Given the description of an element on the screen output the (x, y) to click on. 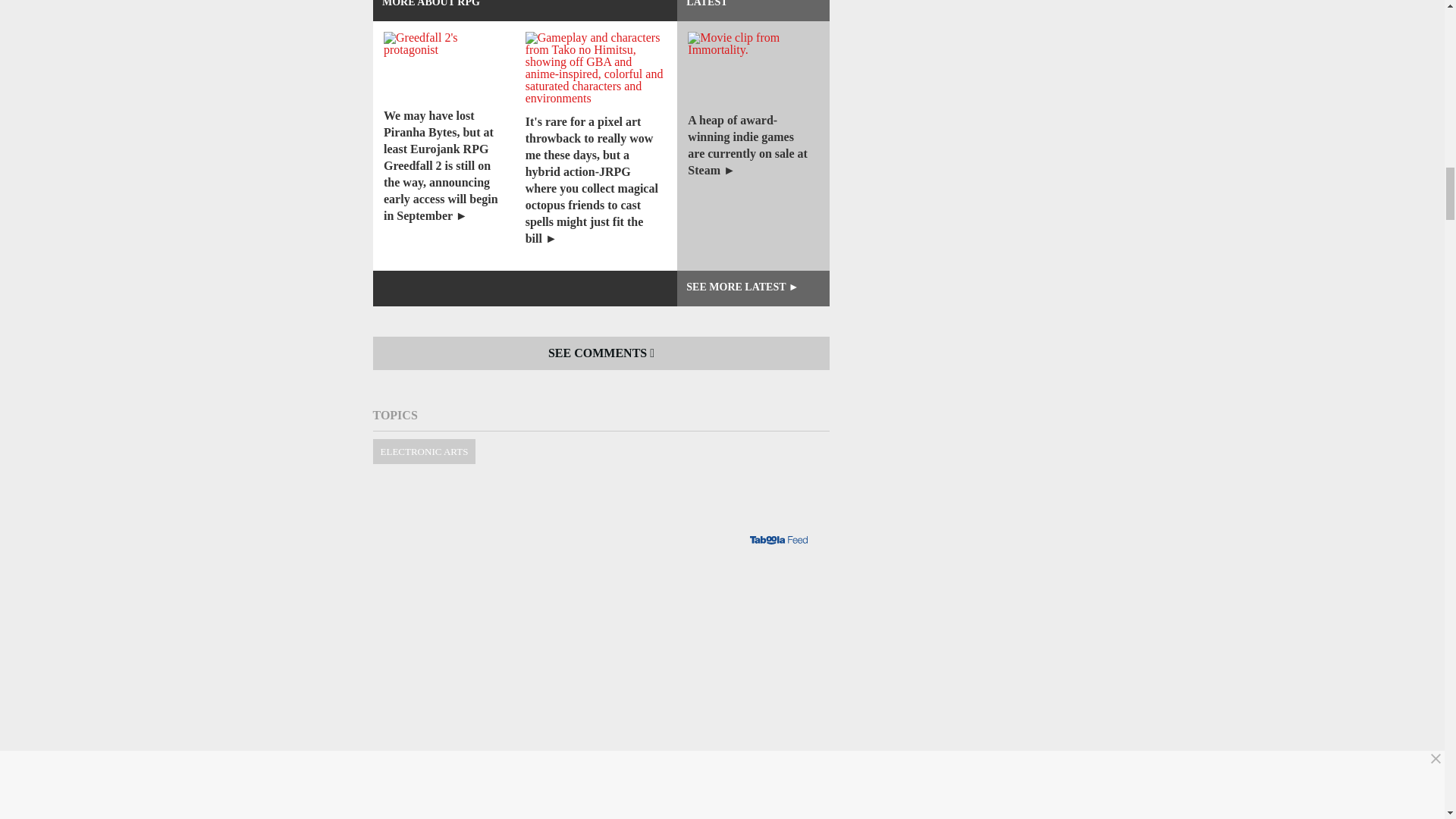
Play War Thunder now for free (600, 775)
